Given the description of an element on the screen output the (x, y) to click on. 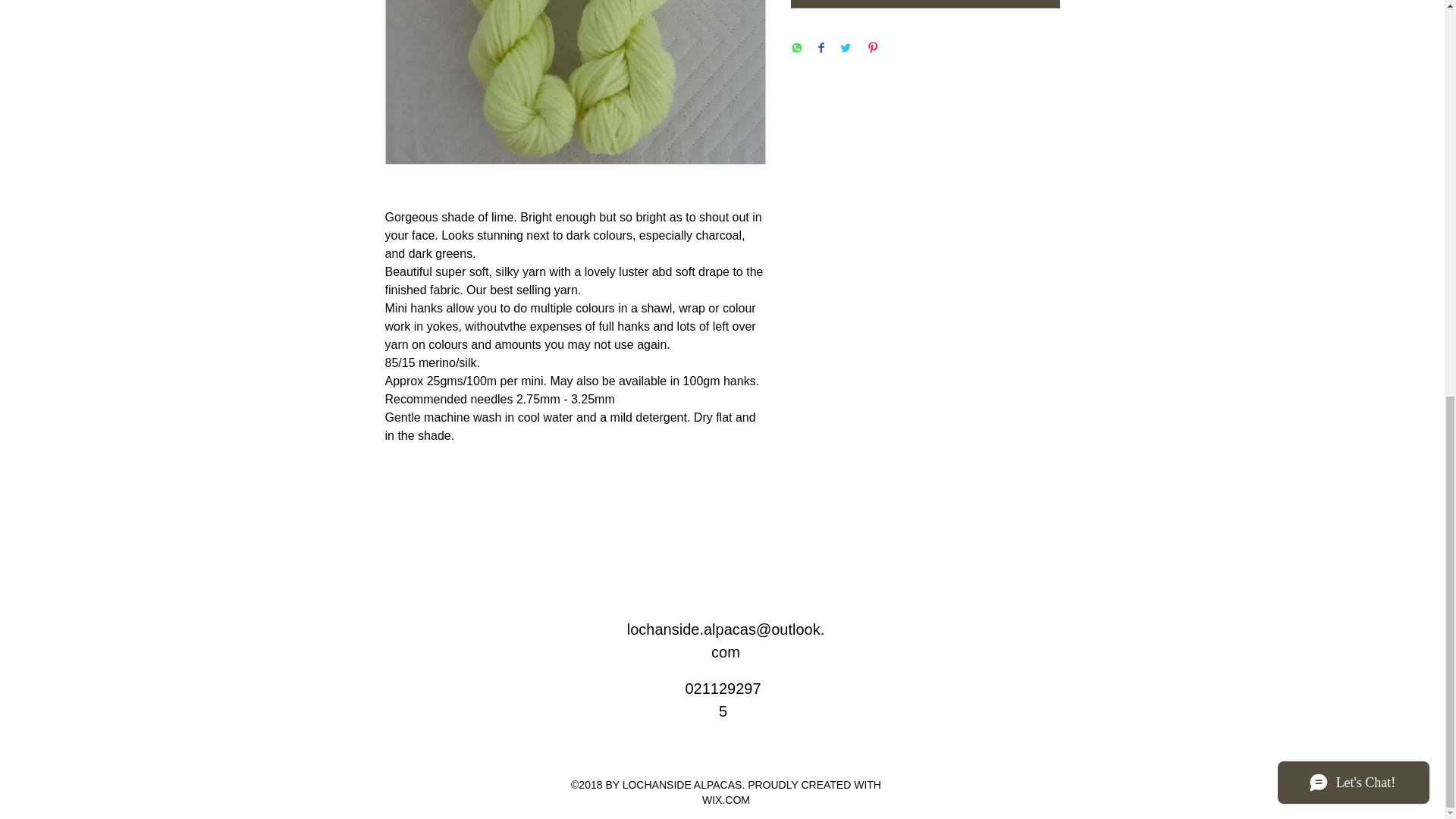
Add to Cart (924, 4)
